Given the description of an element on the screen output the (x, y) to click on. 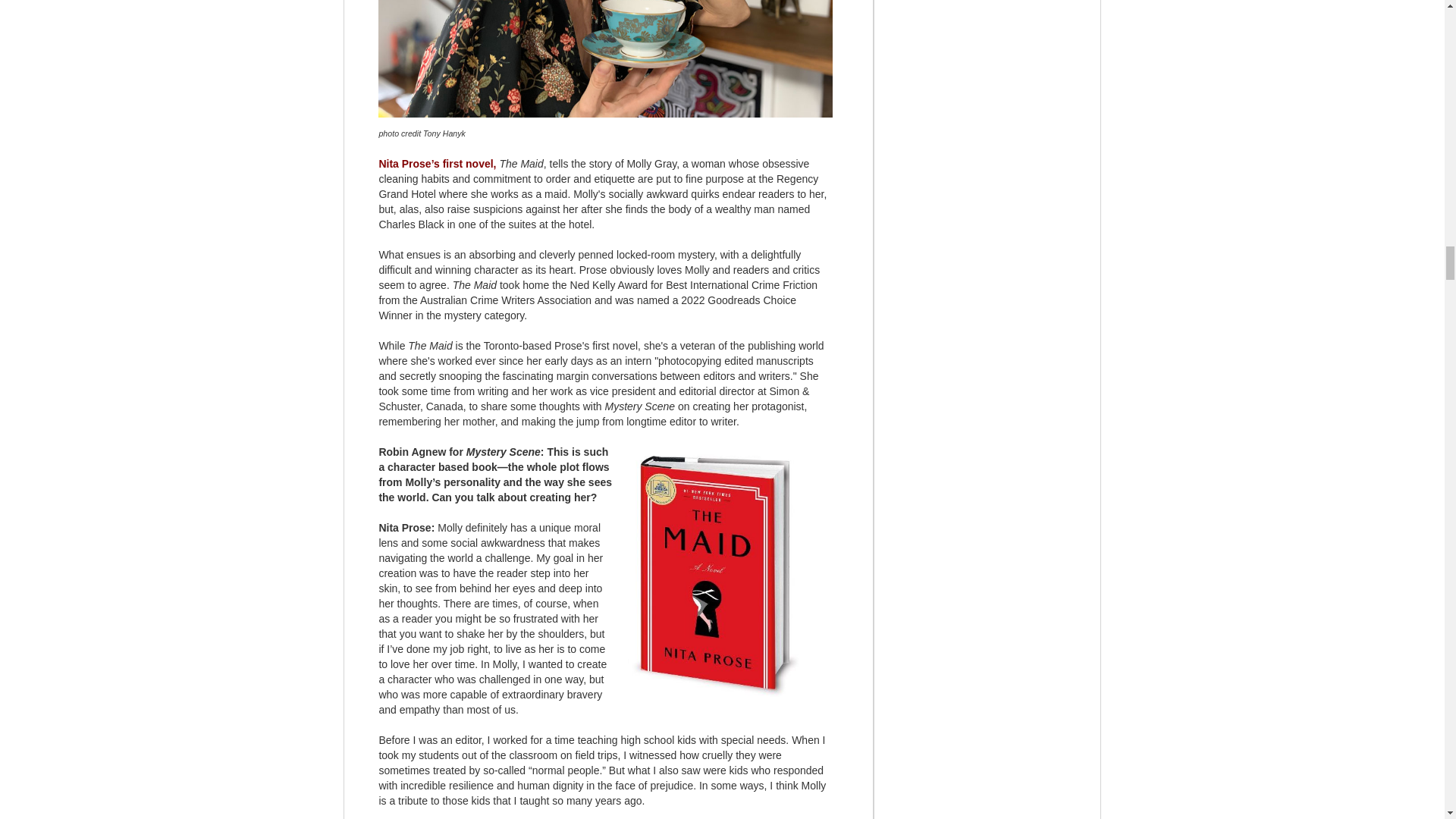
Nita Prose (404, 163)
Nita Prose photo credit Tony Hanyk (604, 58)
